Given the description of an element on the screen output the (x, y) to click on. 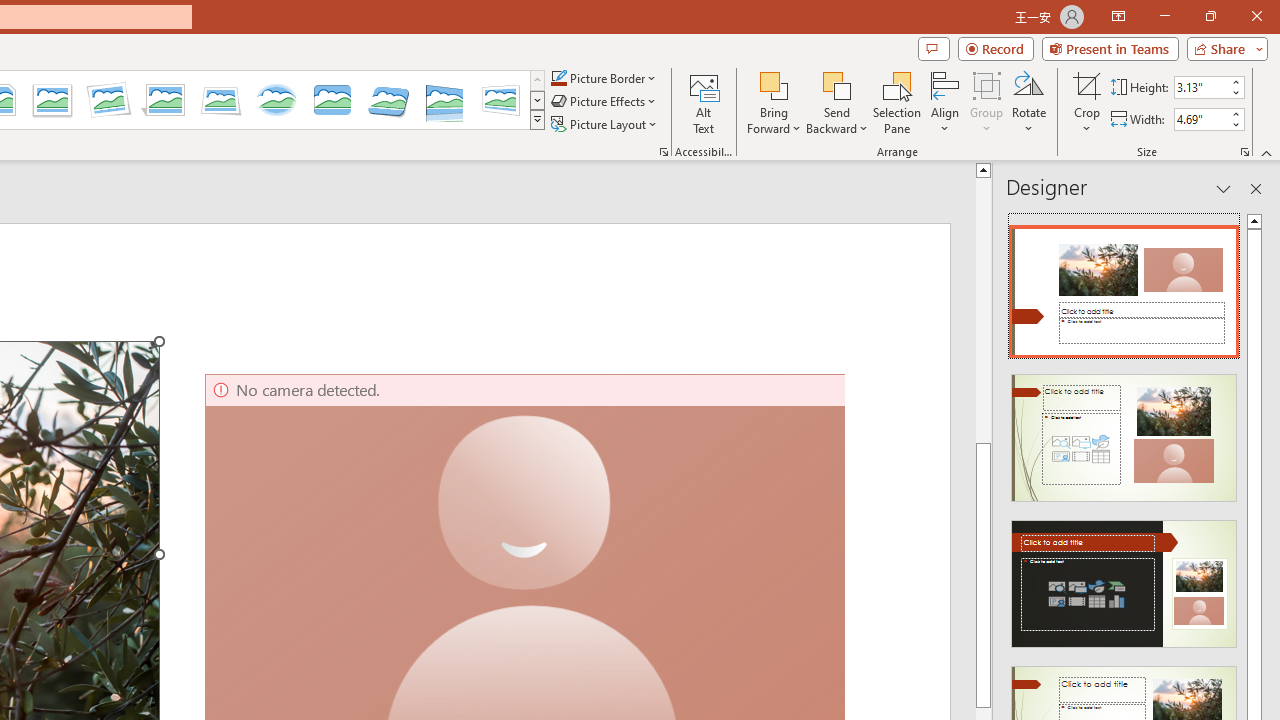
Crop (1087, 102)
Picture Layout (605, 124)
Perspective Shadow, White (164, 100)
Bevel Perspective (388, 100)
Picture Border Teal, Accent 1 (558, 78)
Soft Edge Oval (276, 100)
Relaxed Perspective, White (221, 100)
